Given the description of an element on the screen output the (x, y) to click on. 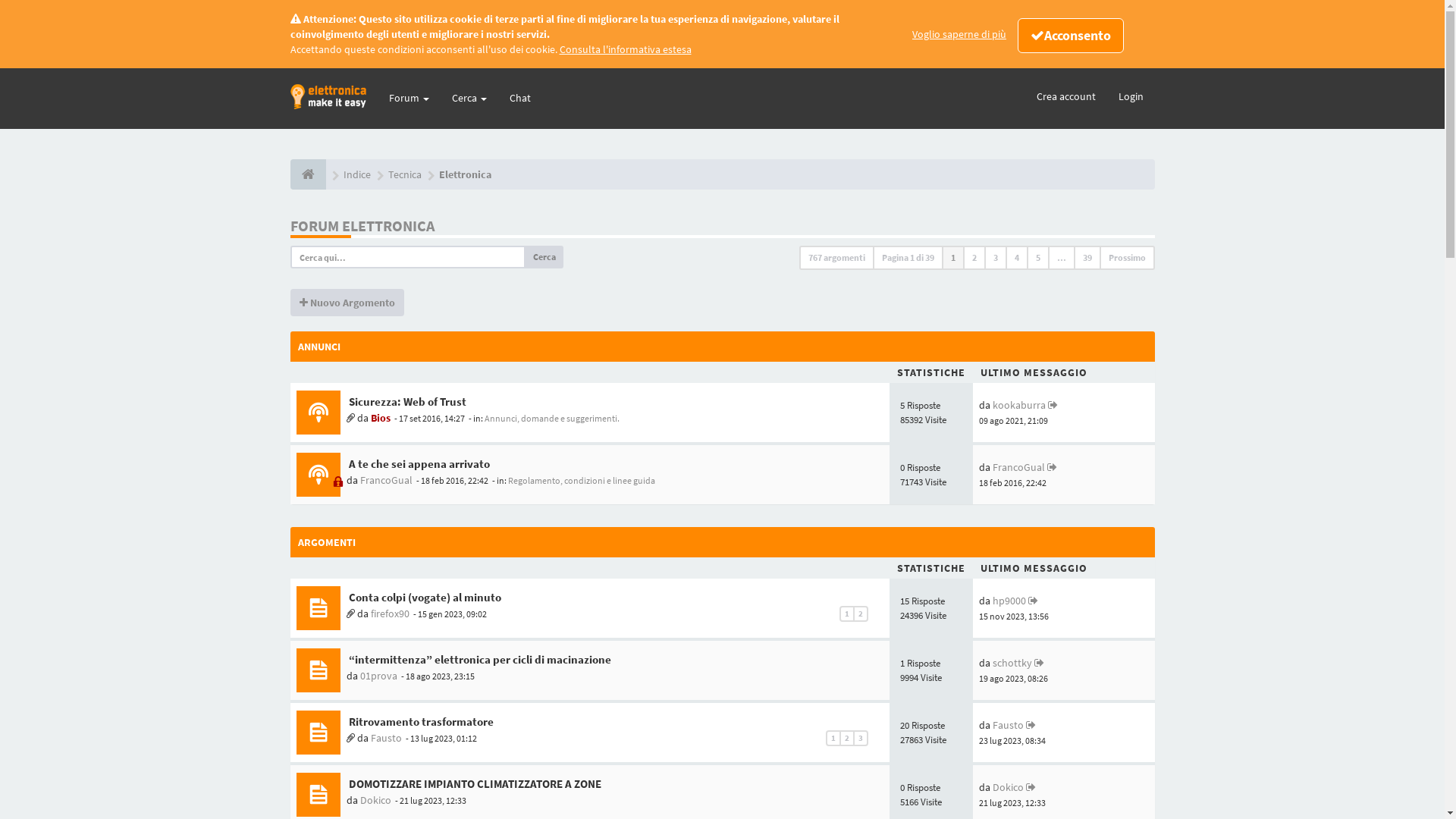
767 argomenti Element type: text (836, 257)
kookaburra Element type: text (1018, 404)
Login Element type: text (1130, 96)
Indice Element type: text (356, 174)
Bios Element type: text (379, 417)
Nessun messaggio da leggere Element type: hover (317, 732)
hp9000 Element type: text (1009, 600)
FORUM ELETTRONICA Element type: text (361, 225)
Dokico Element type: text (1007, 786)
Consulta l'informativa estesa Element type: text (625, 49)
Cerca  Element type: text (468, 97)
2 Element type: text (846, 738)
Tecnica Element type: text (404, 174)
4 Element type: text (1016, 257)
3 Element type: text (995, 257)
Nessun messaggio da leggere Element type: hover (317, 794)
FrancoGual Element type: text (385, 479)
39 Element type: text (1087, 257)
3 Element type: text (860, 738)
5 Element type: text (1037, 257)
Fausto Element type: text (385, 737)
FrancoGual Element type: text (1018, 466)
Chat Element type: text (519, 97)
Regolamento, condizioni e linee guida Element type: text (581, 480)
 Conta colpi (vogate) al minuto Element type: text (422, 596)
Nessun messaggio da leggere Element type: hover (317, 670)
firefox90 Element type: text (389, 613)
 Sicurezza: Web of Trust Element type: text (405, 401)
Acconsento Element type: text (1070, 35)
Elettronica Element type: text (464, 174)
Allegato(i) Element type: hover (349, 613)
1 Element type: text (952, 257)
Prossimo Element type: text (1126, 257)
1 Element type: text (832, 738)
Nessun messaggio da leggere Element type: hover (317, 608)
Allegato(i) Element type: hover (349, 417)
Crea account Element type: text (1066, 96)
Fausto Element type: text (1007, 724)
Annunci, domande e suggerimenti. Element type: text (550, 417)
Forum  Element type: text (408, 97)
schottky Element type: text (1012, 662)
2 Element type: text (974, 257)
Dokico Element type: text (374, 799)
Nessun messaggio da leggere Element type: hover (317, 412)
01prova Element type: text (377, 675)
 Ritrovamento trasformatore Element type: text (418, 721)
 DOMOTIZZARE IMPIANTO CLIMATIZZATORE A ZONE Element type: text (472, 783)
Cerca Element type: text (543, 256)
Allegato(i) Element type: hover (349, 737)
Pagina 1 di 39 Element type: text (907, 257)
 A te che sei appena arrivato Element type: text (417, 463)
 Nuovo Argomento Element type: text (346, 302)
2 Element type: text (860, 613)
1 Element type: text (846, 613)
